Given the description of an element on the screen output the (x, y) to click on. 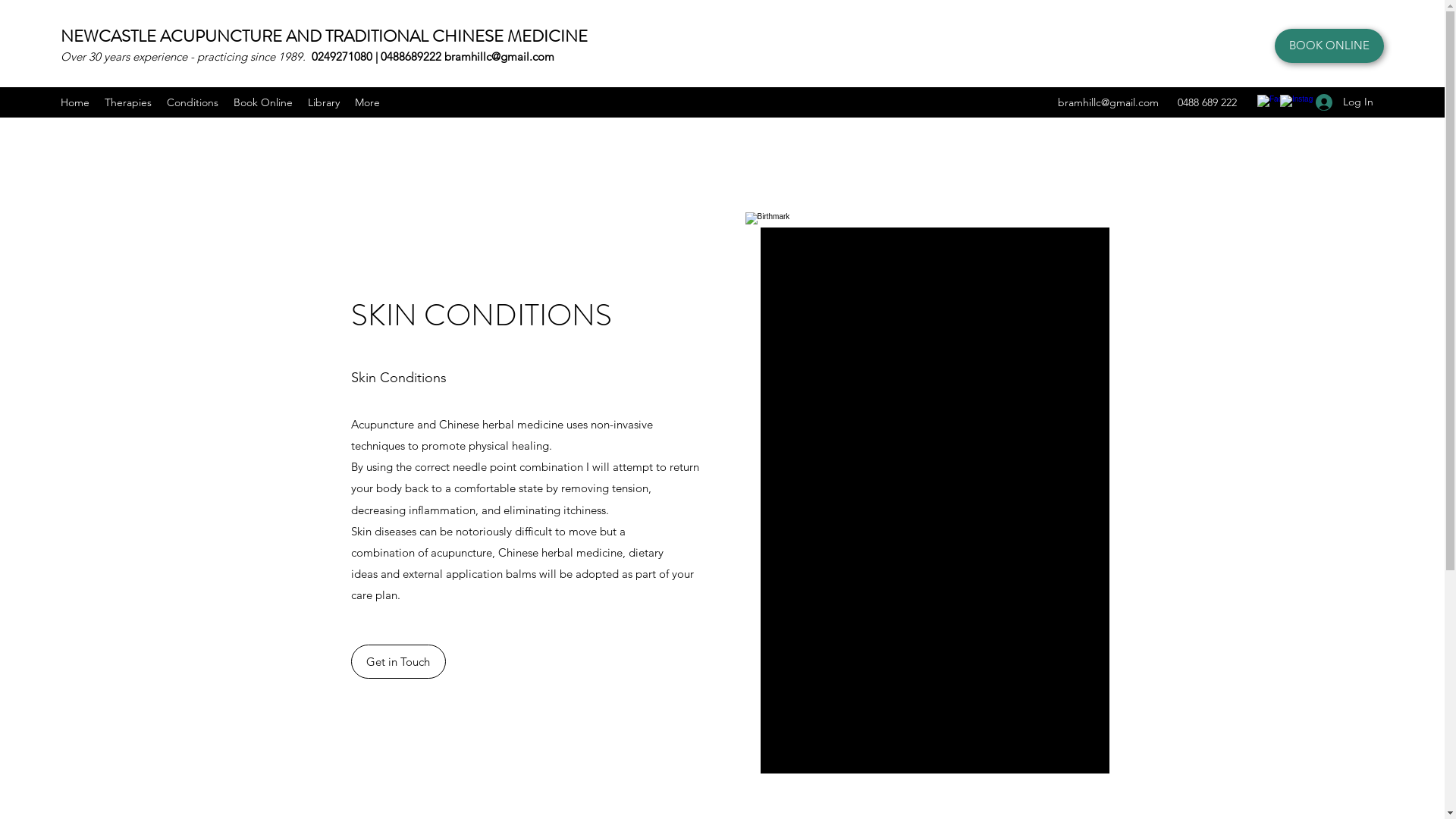
Get in Touch Element type: text (397, 661)
NEWCASTLE ACUPUNCTURE AND TRADITIONAL CHINESE MEDICINE Element type: text (323, 35)
bramhillc@gmail.com Element type: text (1107, 102)
0249271080 Element type: text (341, 56)
BOOK ONLINE Element type: text (1328, 45)
Log In Element type: text (1344, 101)
Conditions Element type: text (192, 102)
Book Online Element type: text (262, 102)
Library Element type: text (323, 102)
bramhillc@gmail.com Element type: text (499, 56)
Home Element type: text (75, 102)
0488689222 Element type: text (412, 56)
Therapies Element type: text (128, 102)
